Given the description of an element on the screen output the (x, y) to click on. 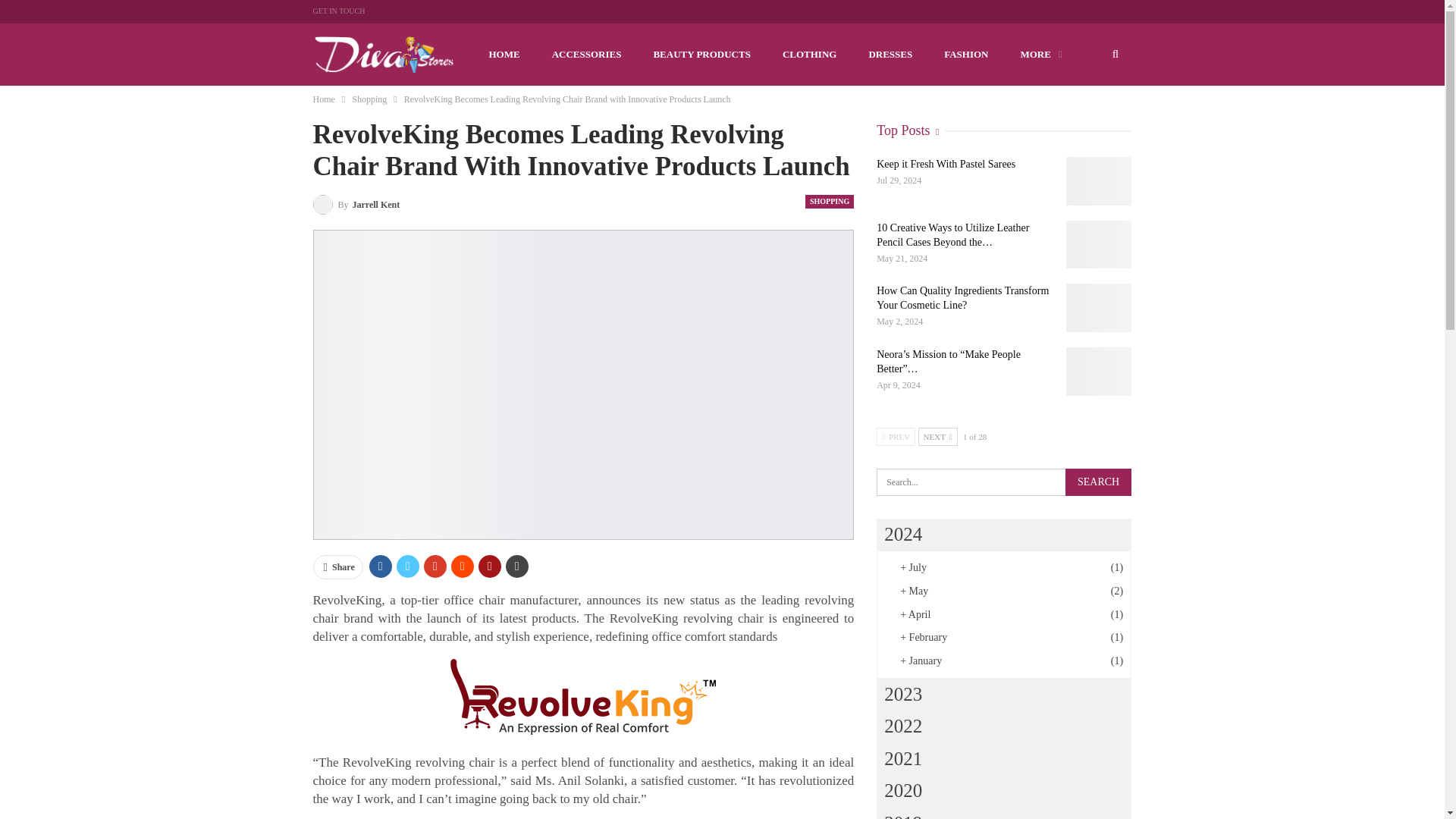
Home (323, 98)
Shopping (369, 98)
SHOPPING (829, 201)
MORE (1040, 54)
Search (1098, 482)
DRESSES (890, 54)
By Jarrell Kent (355, 204)
Search (1098, 482)
GET IN TOUCH (339, 10)
